Given the description of an element on the screen output the (x, y) to click on. 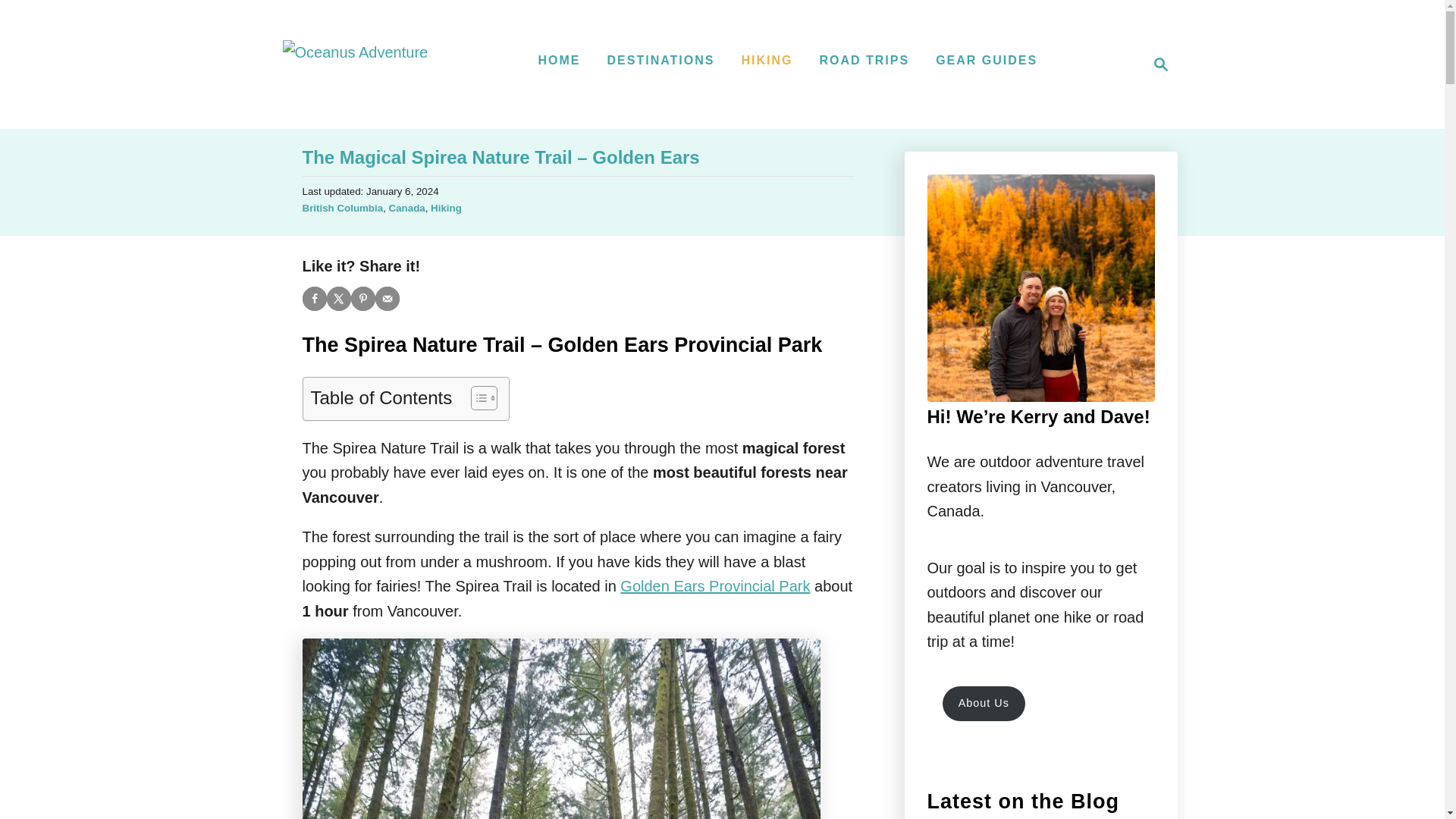
Magnifying Glass (1160, 64)
British Columbia (341, 207)
Save to Pinterest (1155, 64)
DESTINATIONS (362, 298)
GEAR GUIDES (660, 60)
Share on X (986, 60)
Send over email (338, 298)
Oceanus Adventure (386, 298)
HIKING (355, 64)
Share on Facebook (766, 60)
HOME (313, 298)
Canada (559, 60)
Hiking (406, 207)
ROAD TRIPS (445, 207)
